Given the description of an element on the screen output the (x, y) to click on. 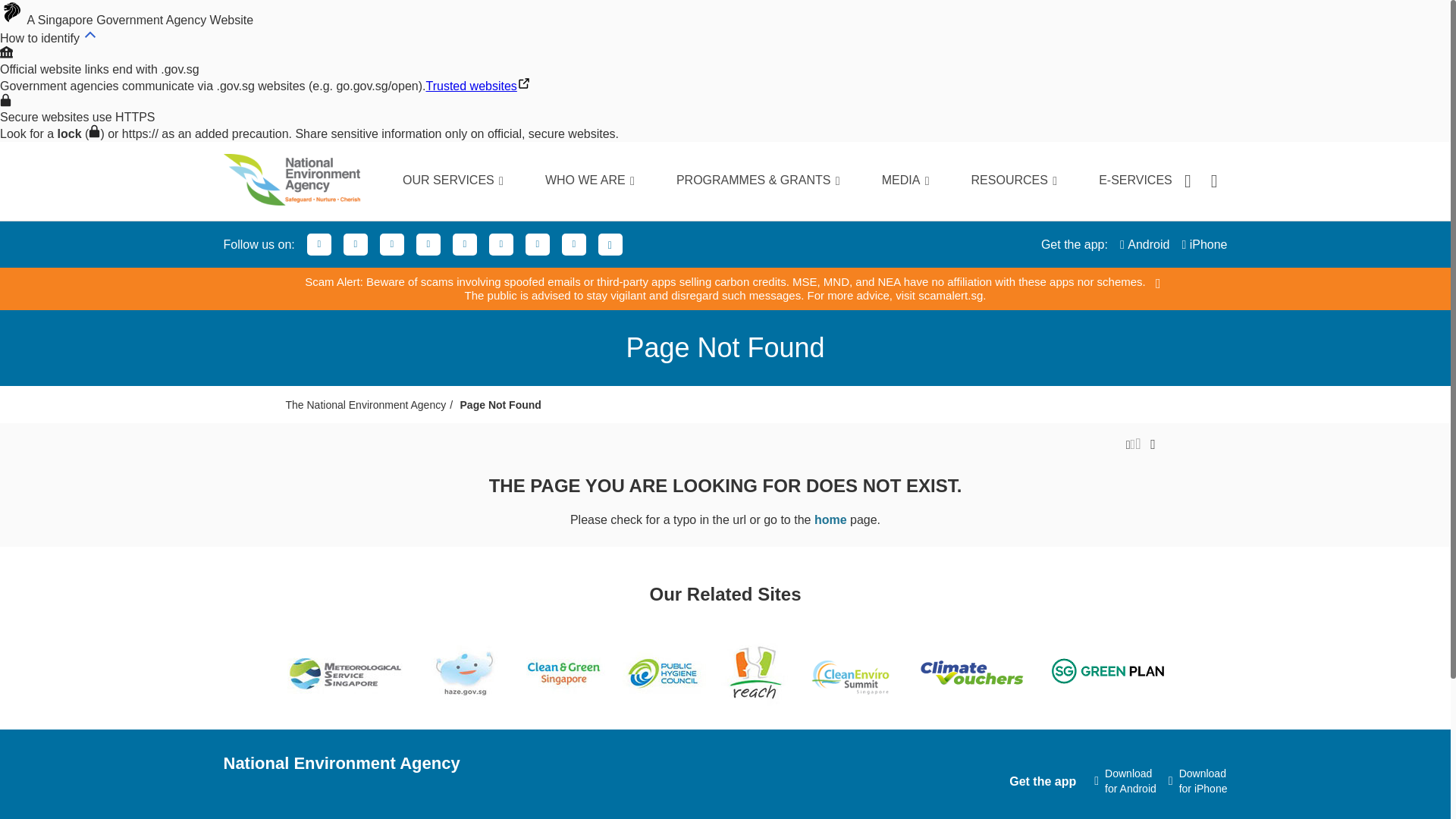
Clean Enviro Summit website (850, 677)
WHO WE ARE (567, 180)
Meterological Service Singapore website (345, 673)
Climate Vouchers website (971, 673)
SG Green Plan website (1108, 673)
Public Hygiene Council website (664, 673)
OUR SERVICES (430, 180)
Haze Website (465, 673)
MEDIA (882, 180)
Reach website (754, 673)
